Given the description of an element on the screen output the (x, y) to click on. 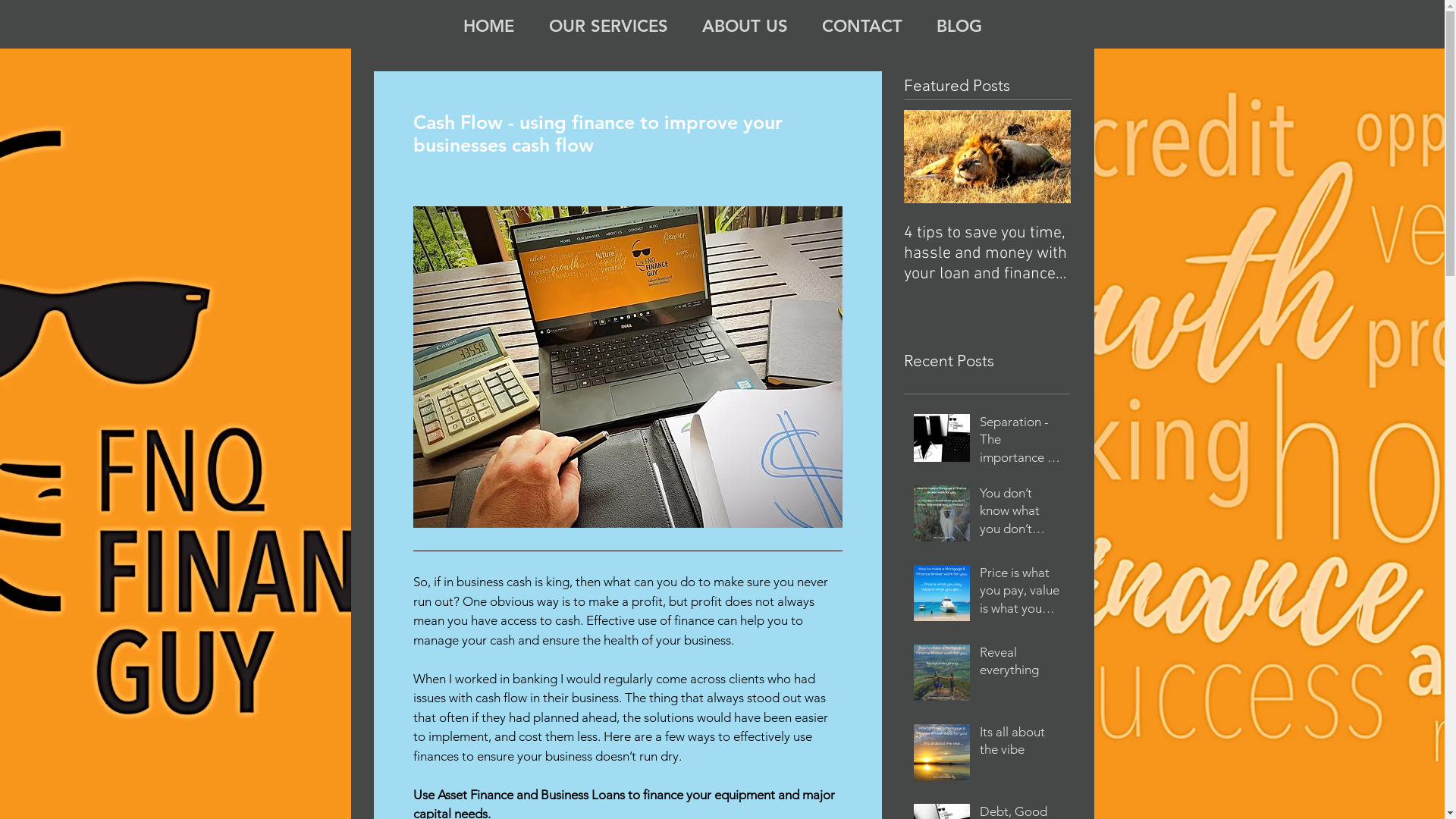
Price is what you pay, value is what you get Element type: text (1020, 594)
CONTACT Element type: text (862, 24)
BLOG Element type: text (958, 24)
Its all about the vibe Element type: text (1020, 744)
ABOUT US Element type: text (745, 24)
How to make business finance easier to get Element type: text (1153, 242)
HOME Element type: text (488, 24)
Reveal everything Element type: text (1020, 664)
OUR SERVICES Element type: text (607, 24)
Separation - The importance of focusing on your finances Element type: text (1020, 443)
